Given the description of an element on the screen output the (x, y) to click on. 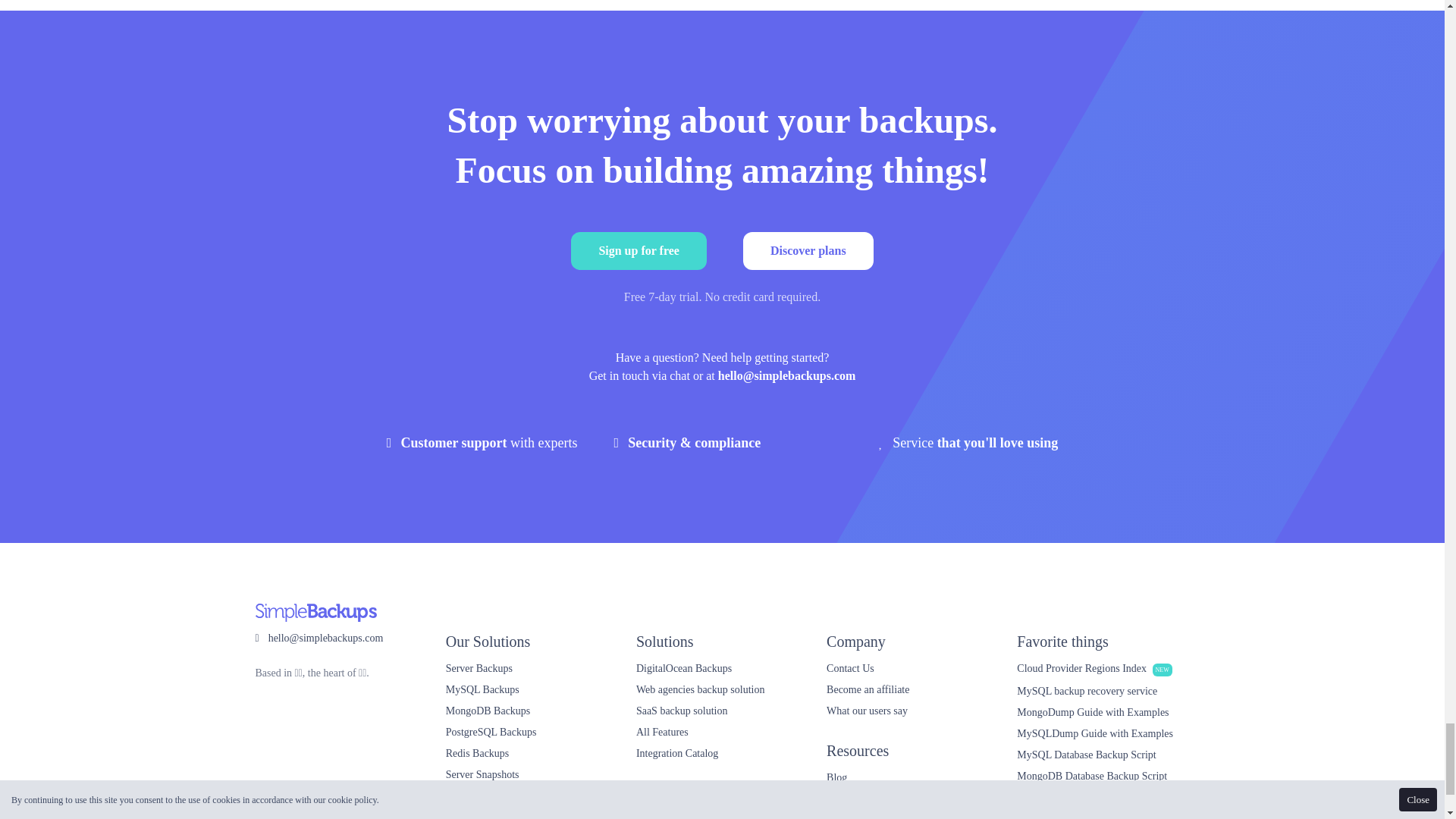
Sign up for free (638, 250)
Discover plans (807, 250)
